Given the description of an element on the screen output the (x, y) to click on. 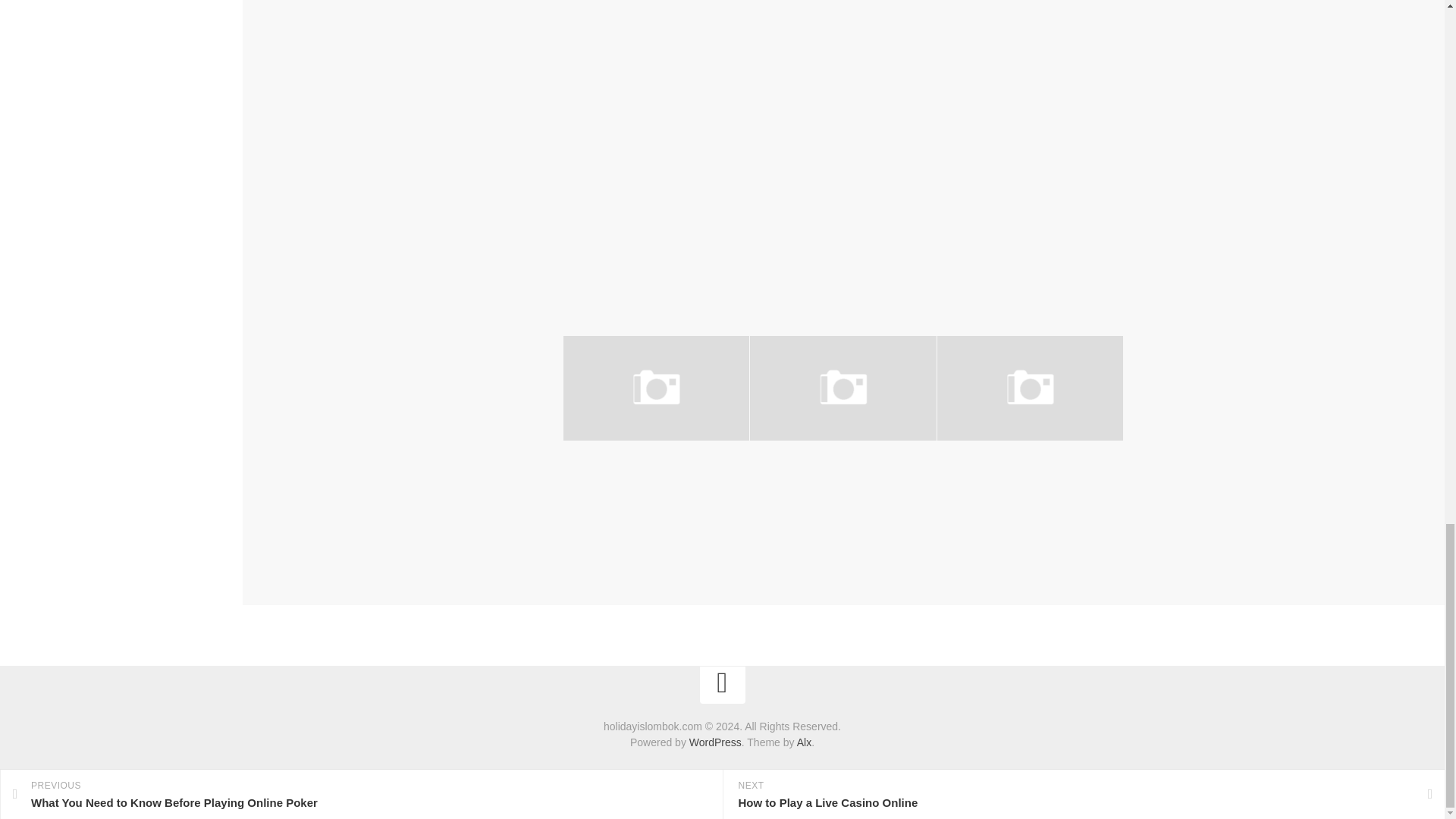
WordPress (714, 742)
Advantages of Online Slot Games (1011, 473)
Choosing a Live Casino Online (630, 473)
Alx (803, 742)
Live Casino Online (804, 464)
